Given the description of an element on the screen output the (x, y) to click on. 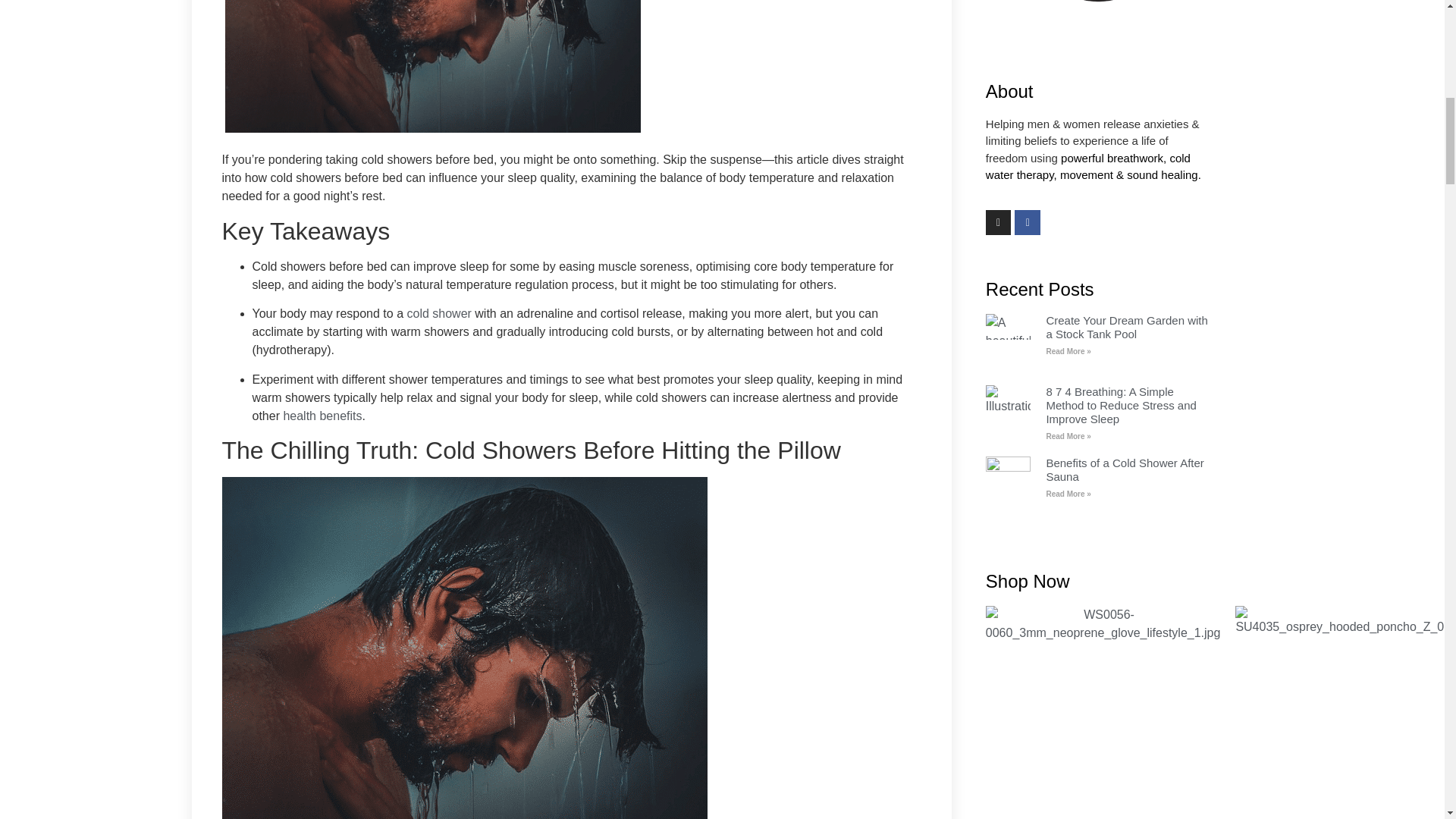
health benefits (321, 415)
cold shower (438, 313)
